Given the description of an element on the screen output the (x, y) to click on. 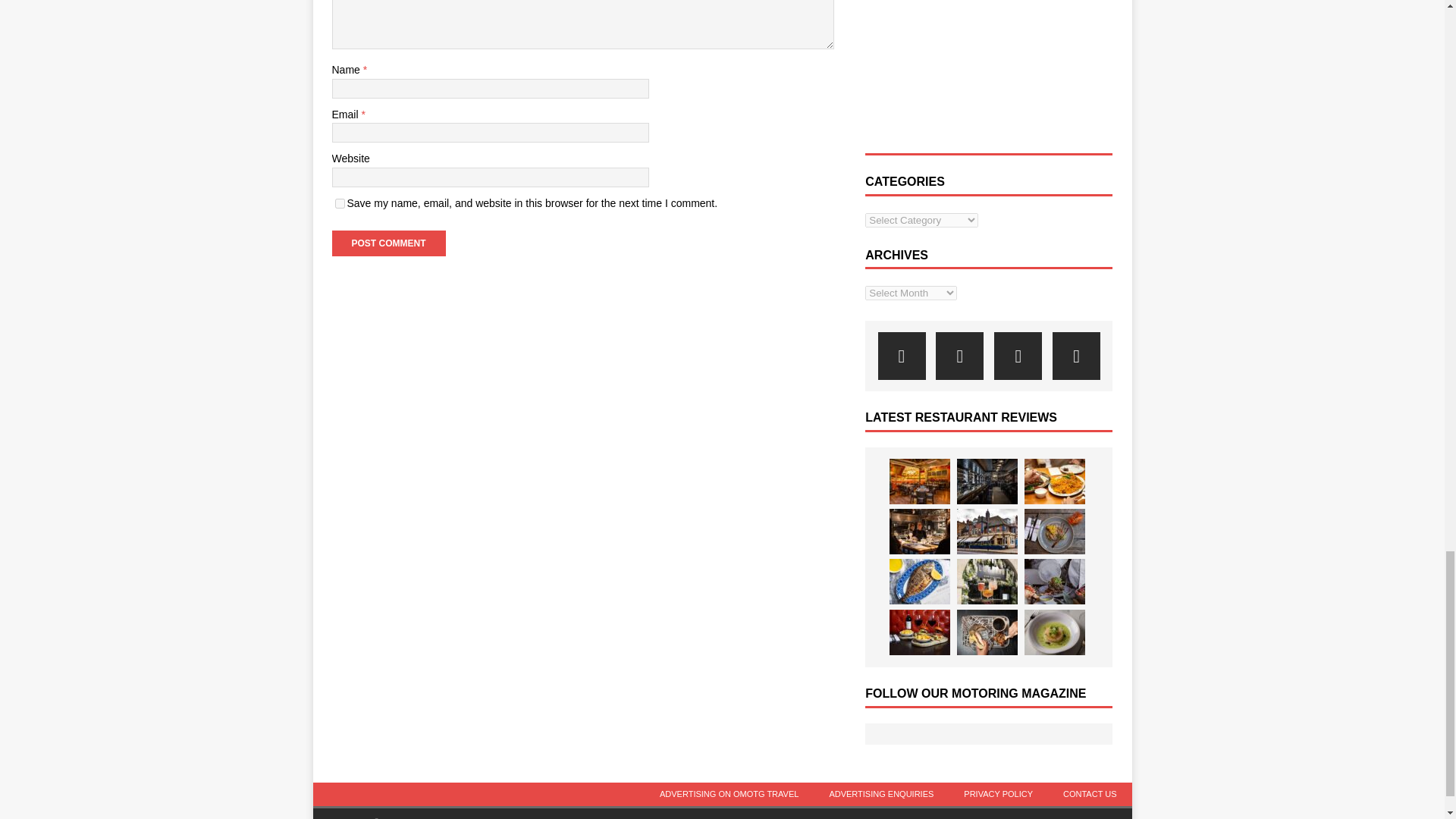
Post Comment (388, 243)
yes (339, 203)
